Given the description of an element on the screen output the (x, y) to click on. 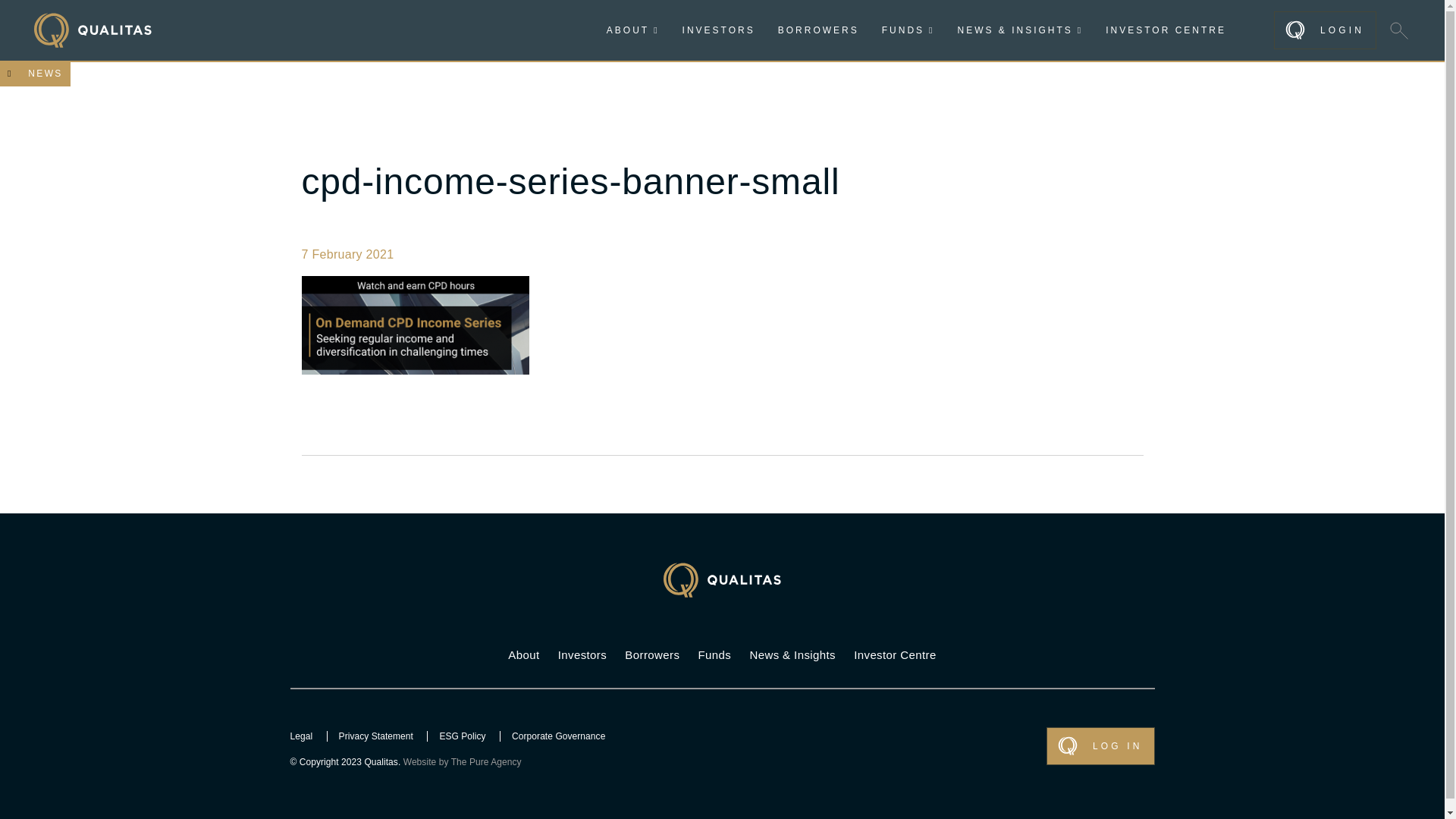
INVESTORS (718, 30)
INVESTOR CENTRE (1165, 30)
LOGIN (1324, 30)
NEWS (34, 73)
FUNDS (908, 30)
ABOUT (633, 30)
BORROWERS (818, 30)
